Given the description of an element on the screen output the (x, y) to click on. 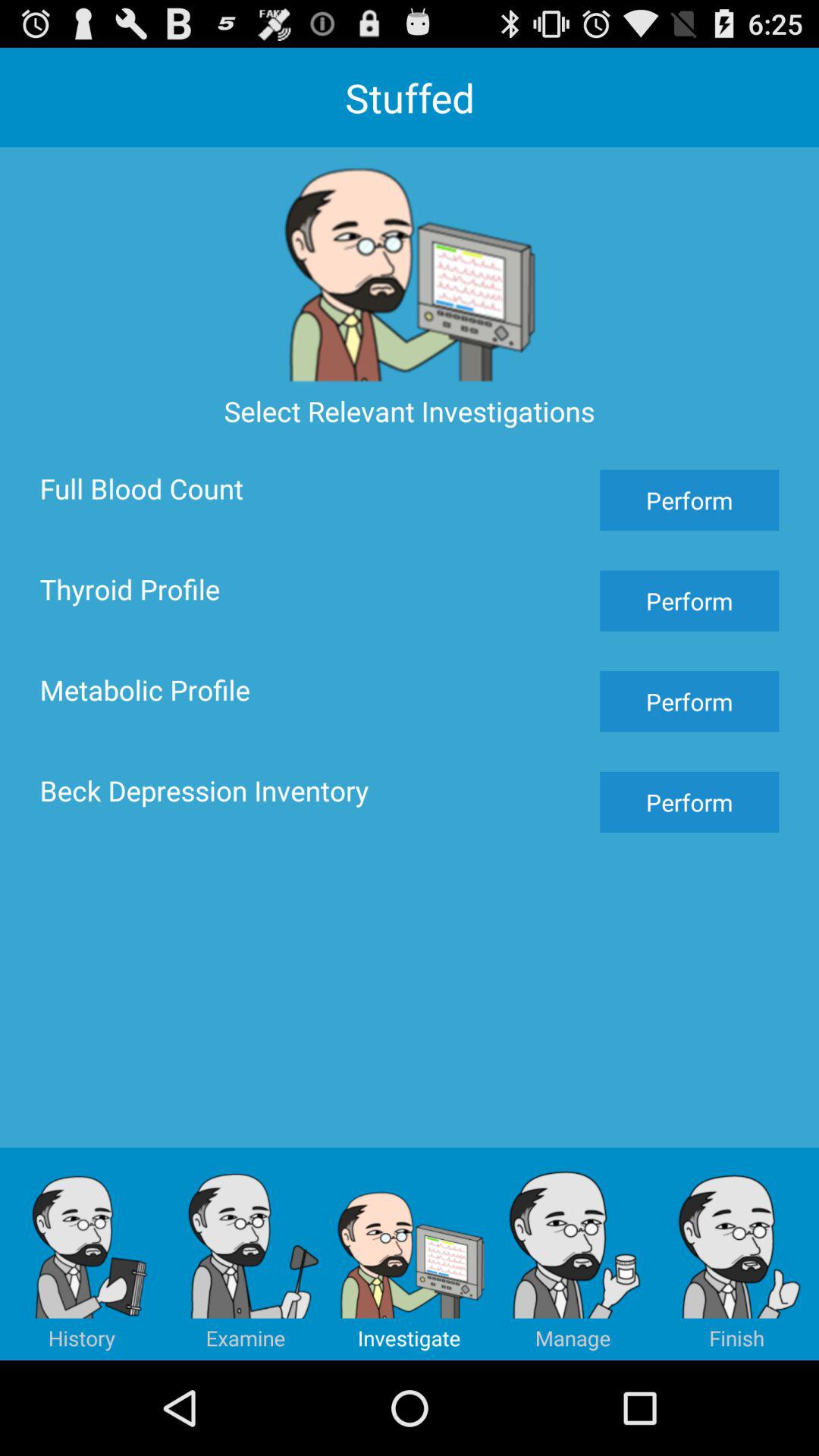
press the app below beck depression inventory app (573, 1253)
